Given the description of an element on the screen output the (x, y) to click on. 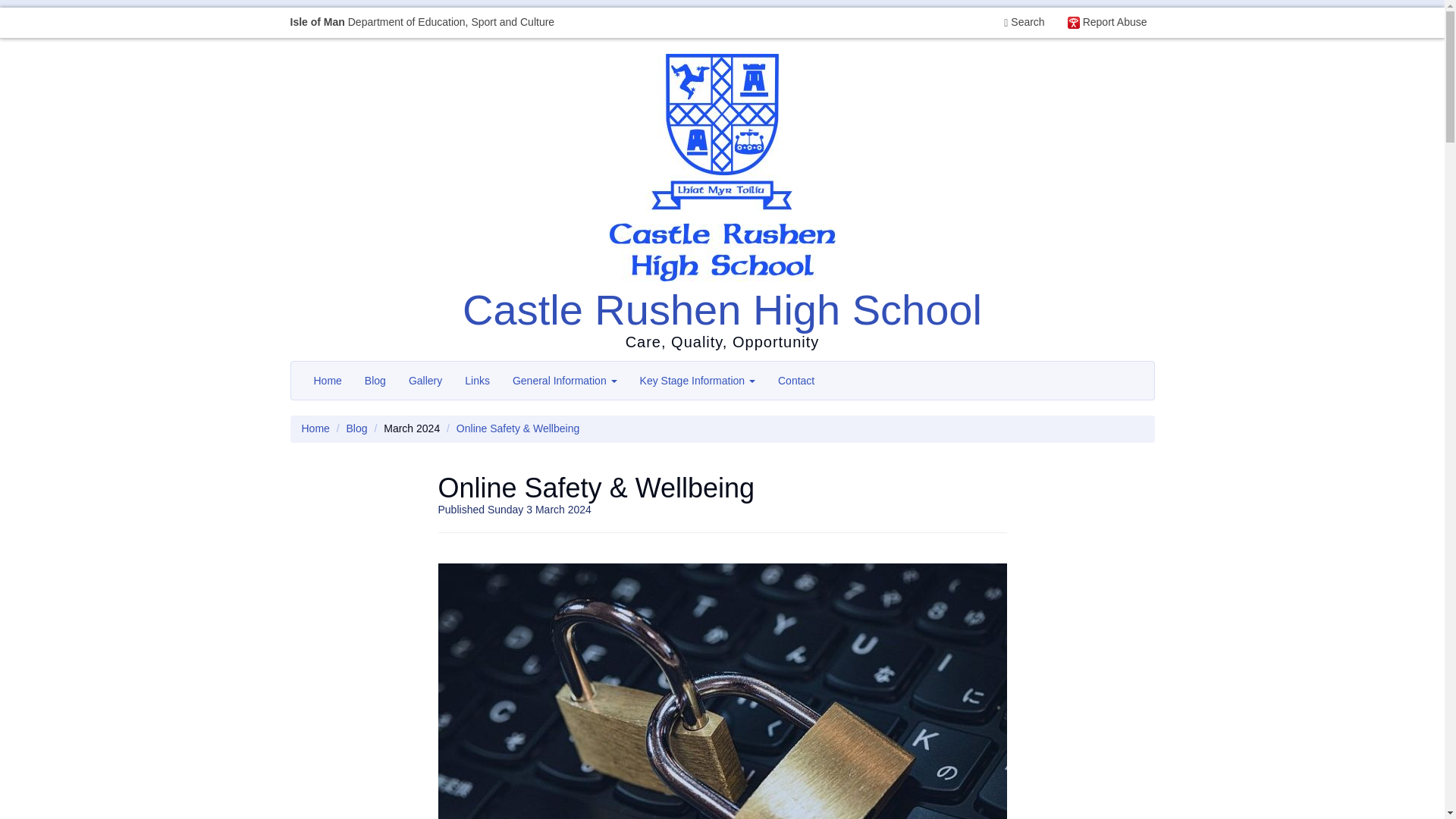
Gallery (424, 380)
Go to the home page (315, 428)
Isle of Man Department of Education, Sport and Culture (421, 22)
Home (315, 428)
Home (326, 380)
Blog (375, 380)
Links (476, 380)
Key Stage Information (697, 380)
Blog (357, 428)
Isle of Man Department of Education, Sport and Culture (421, 22)
Gallery (424, 380)
Links (476, 380)
Search (1023, 22)
Castle Rushen High School (722, 309)
Blog (375, 380)
